Given the description of an element on the screen output the (x, y) to click on. 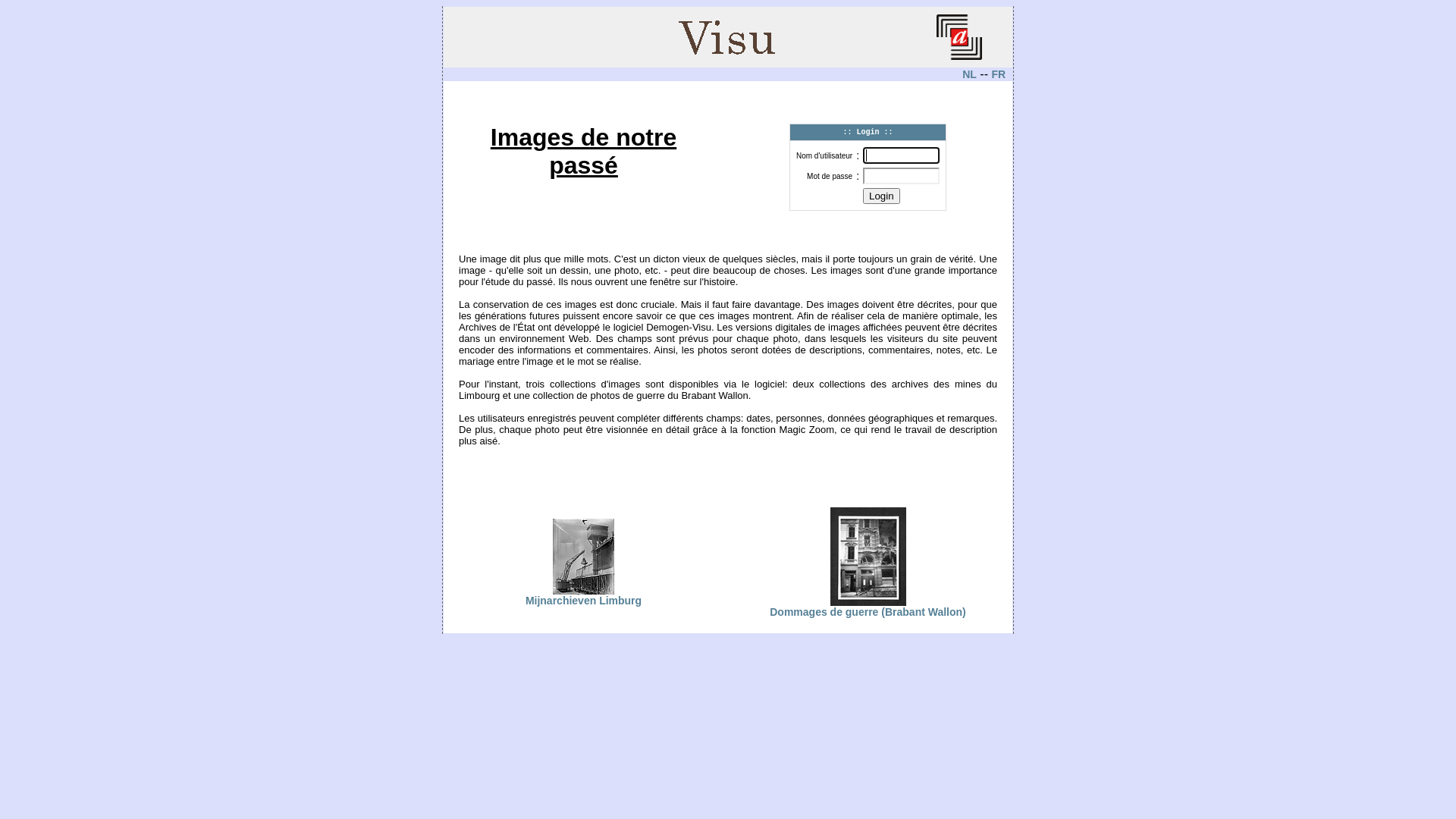
Login Element type: text (881, 195)
Dommages de guerre (Brabant Wallon) Element type: text (867, 607)
FR Element type: text (998, 74)
NL Element type: text (969, 74)
Mijnarchieven Limburg Element type: text (583, 595)
